Given the description of an element on the screen output the (x, y) to click on. 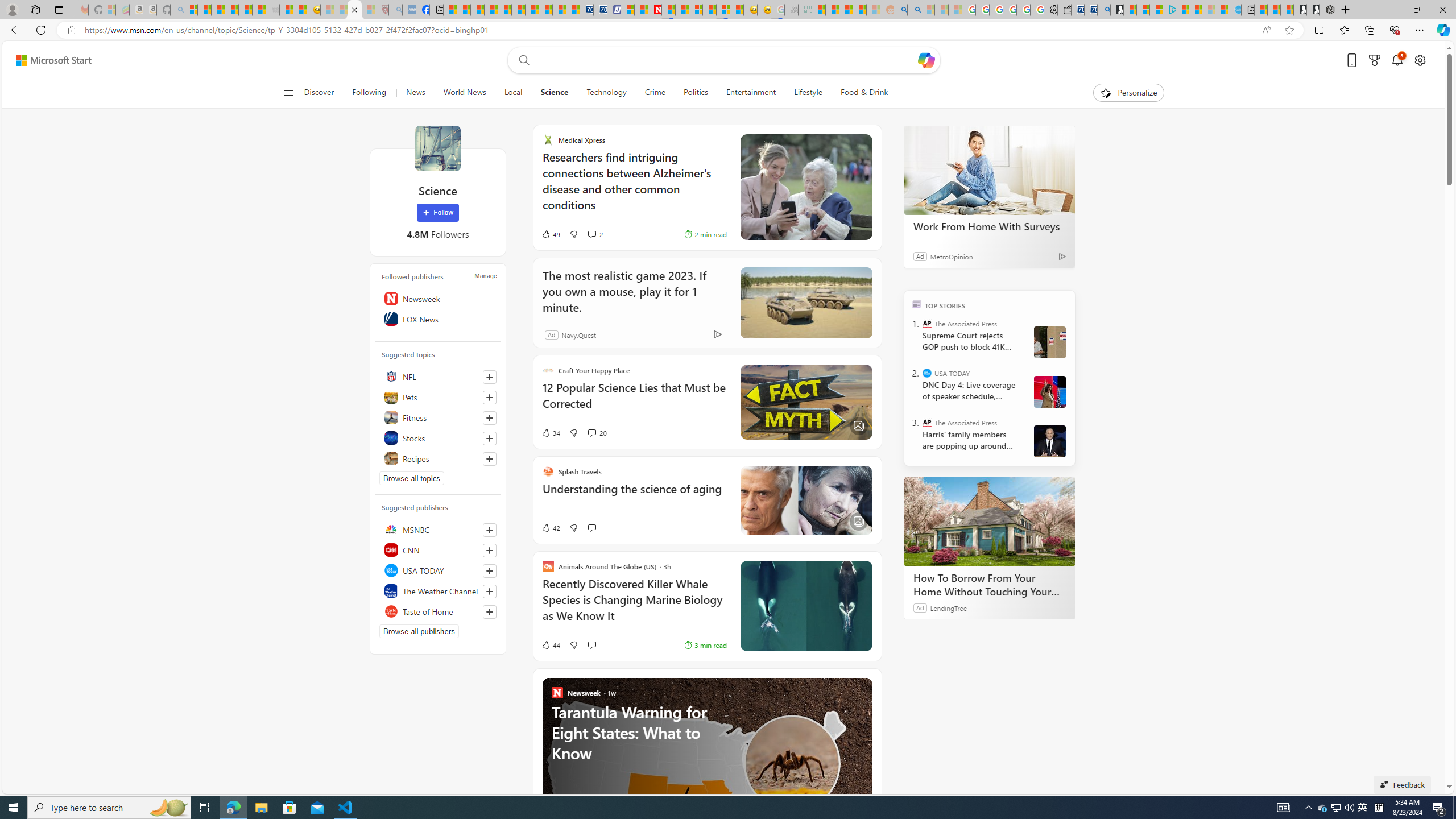
Combat Siege - Sleeping (271, 9)
